Given the description of an element on the screen output the (x, y) to click on. 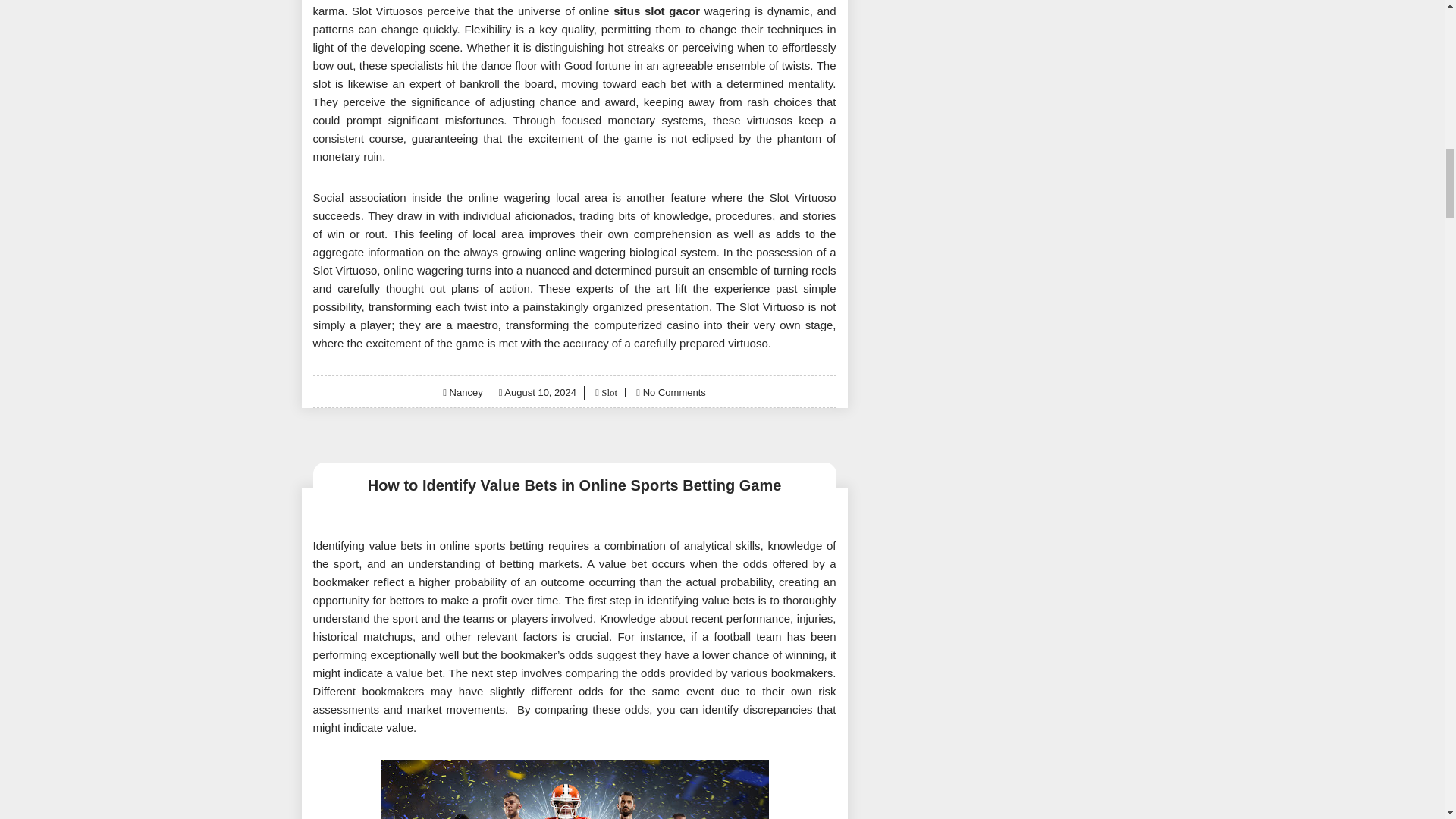
Slot (607, 392)
No Comments (674, 392)
situs slot gacor (656, 10)
How to Identify Value Bets in Online Sports Betting Game (574, 484)
August 10, 2024 (539, 392)
Nancey (466, 392)
